Given the description of an element on the screen output the (x, y) to click on. 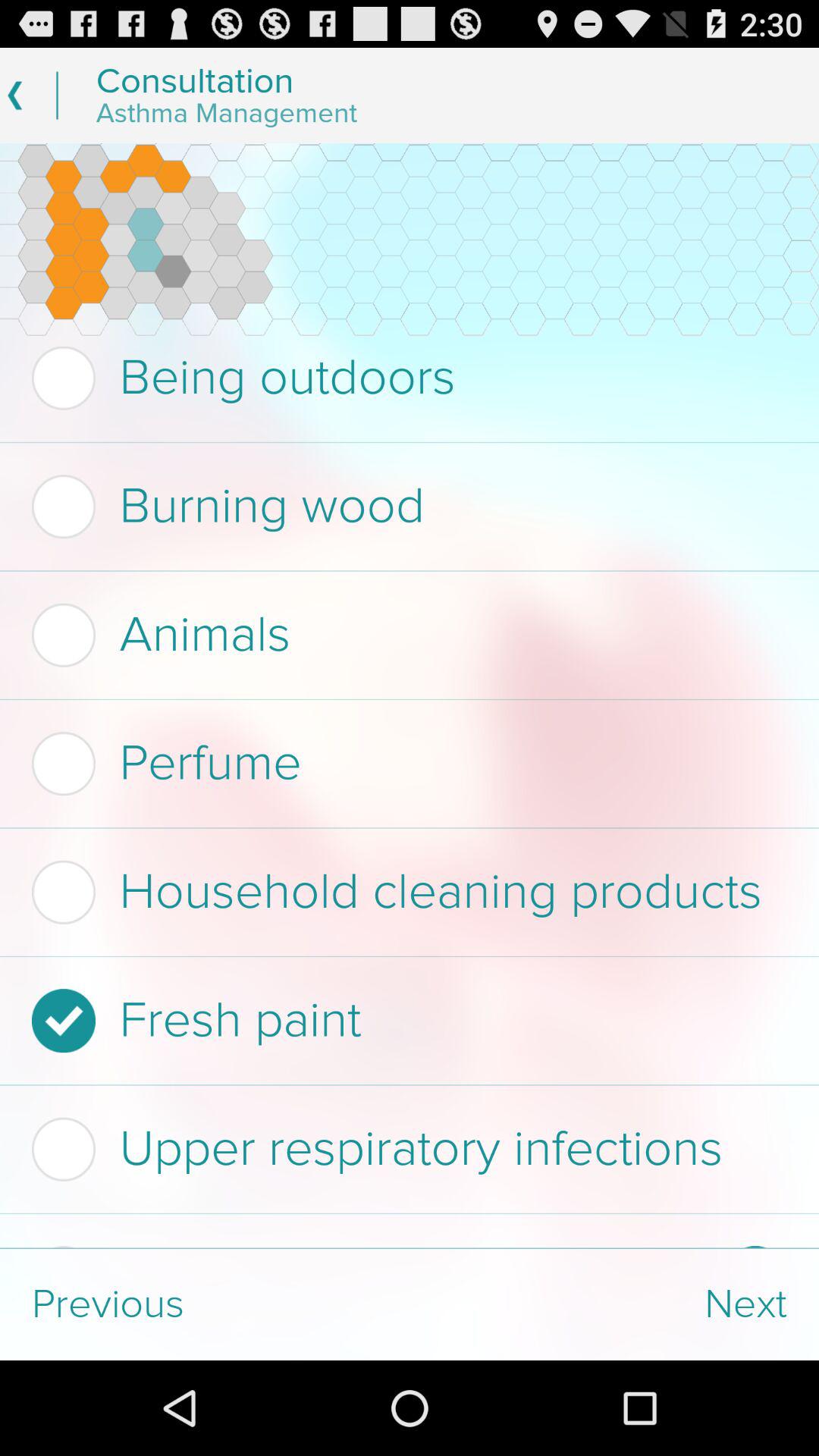
choose the icon below the perfume (405, 892)
